Given the description of an element on the screen output the (x, y) to click on. 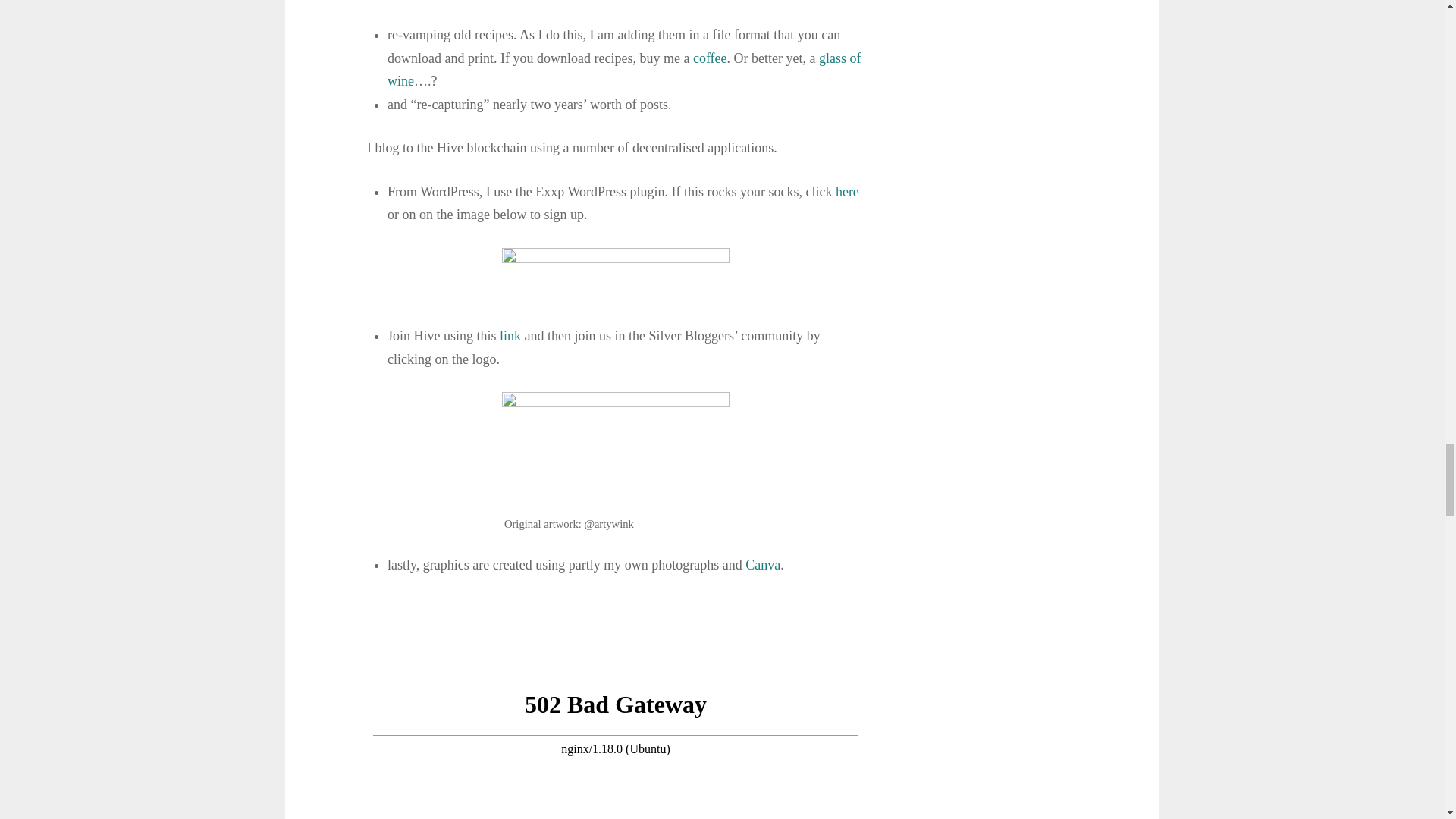
coffee (709, 58)
glass of wine (624, 69)
here (847, 191)
